Given the description of an element on the screen output the (x, y) to click on. 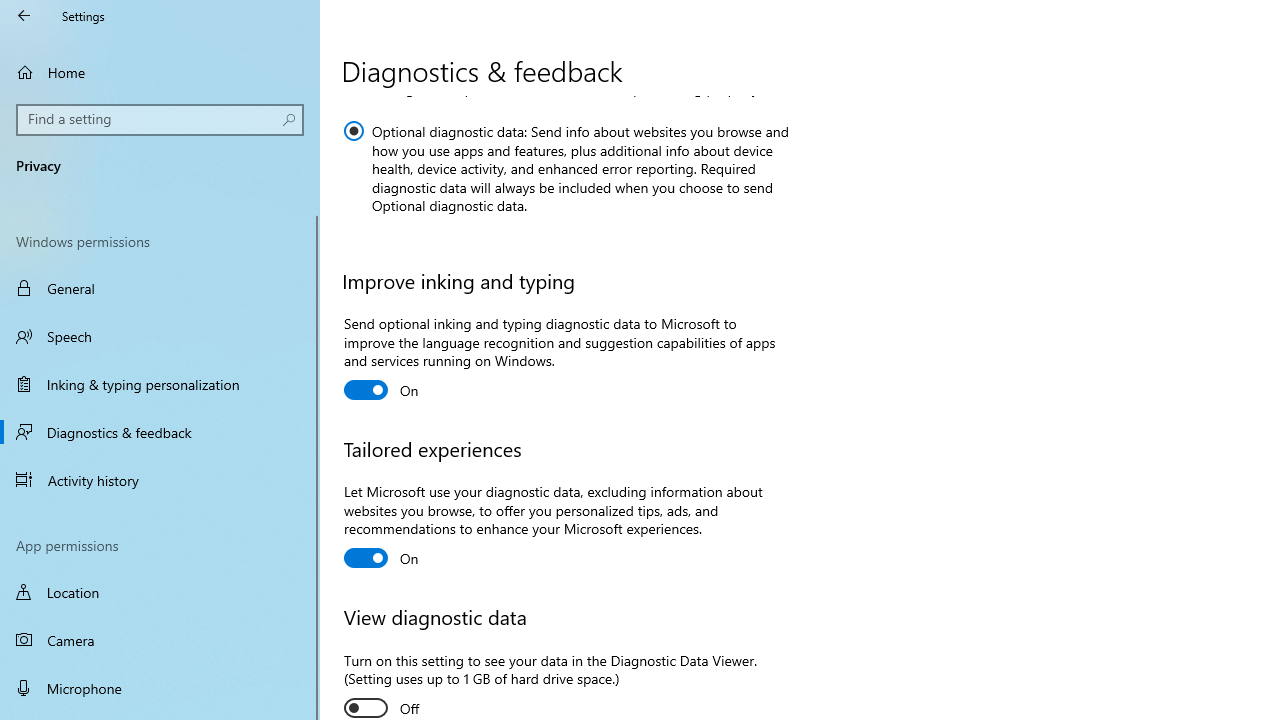
Diagnostics & feedback (160, 431)
